Given the description of an element on the screen output the (x, y) to click on. 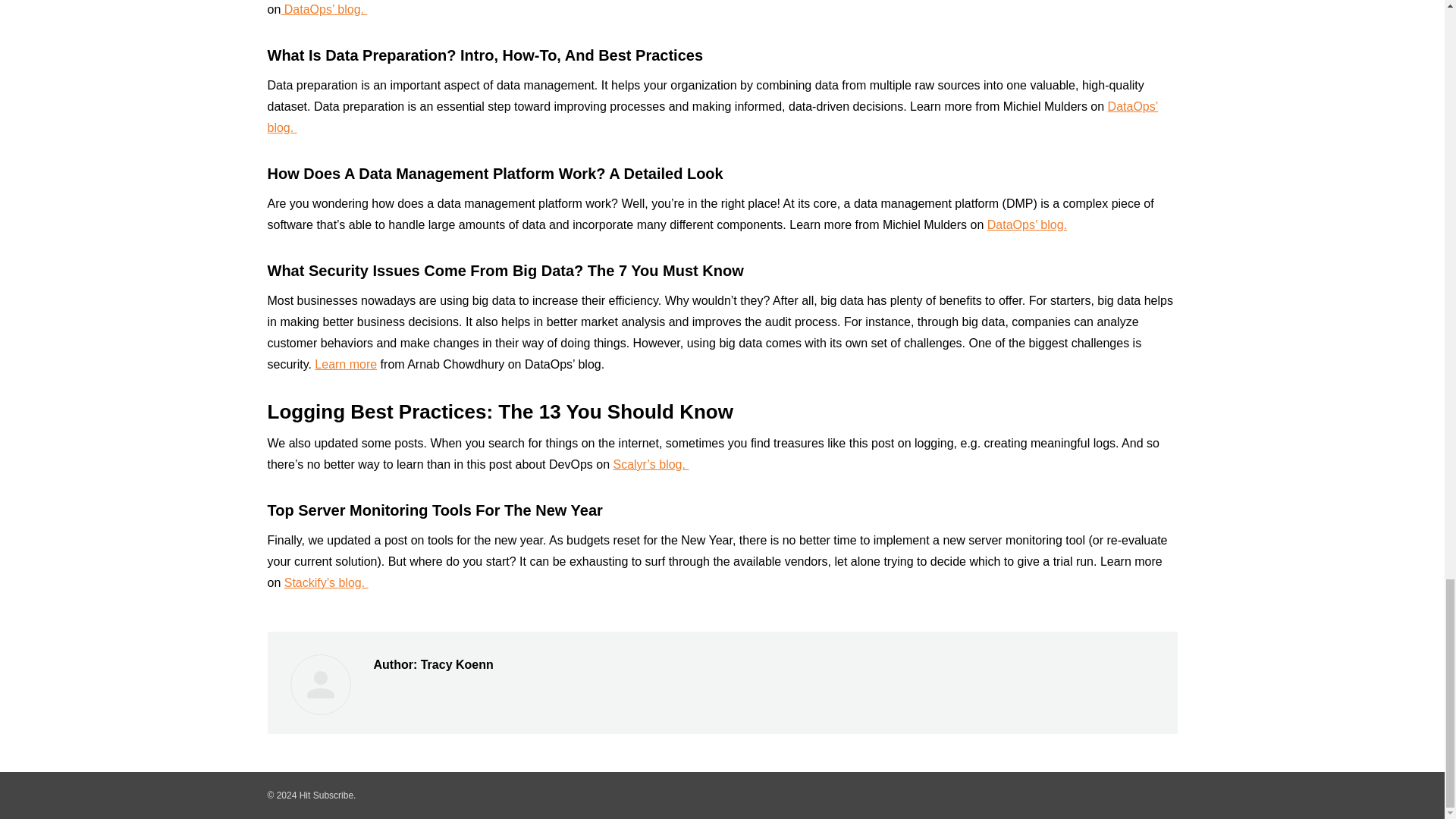
Learn more (345, 364)
